Given the description of an element on the screen output the (x, y) to click on. 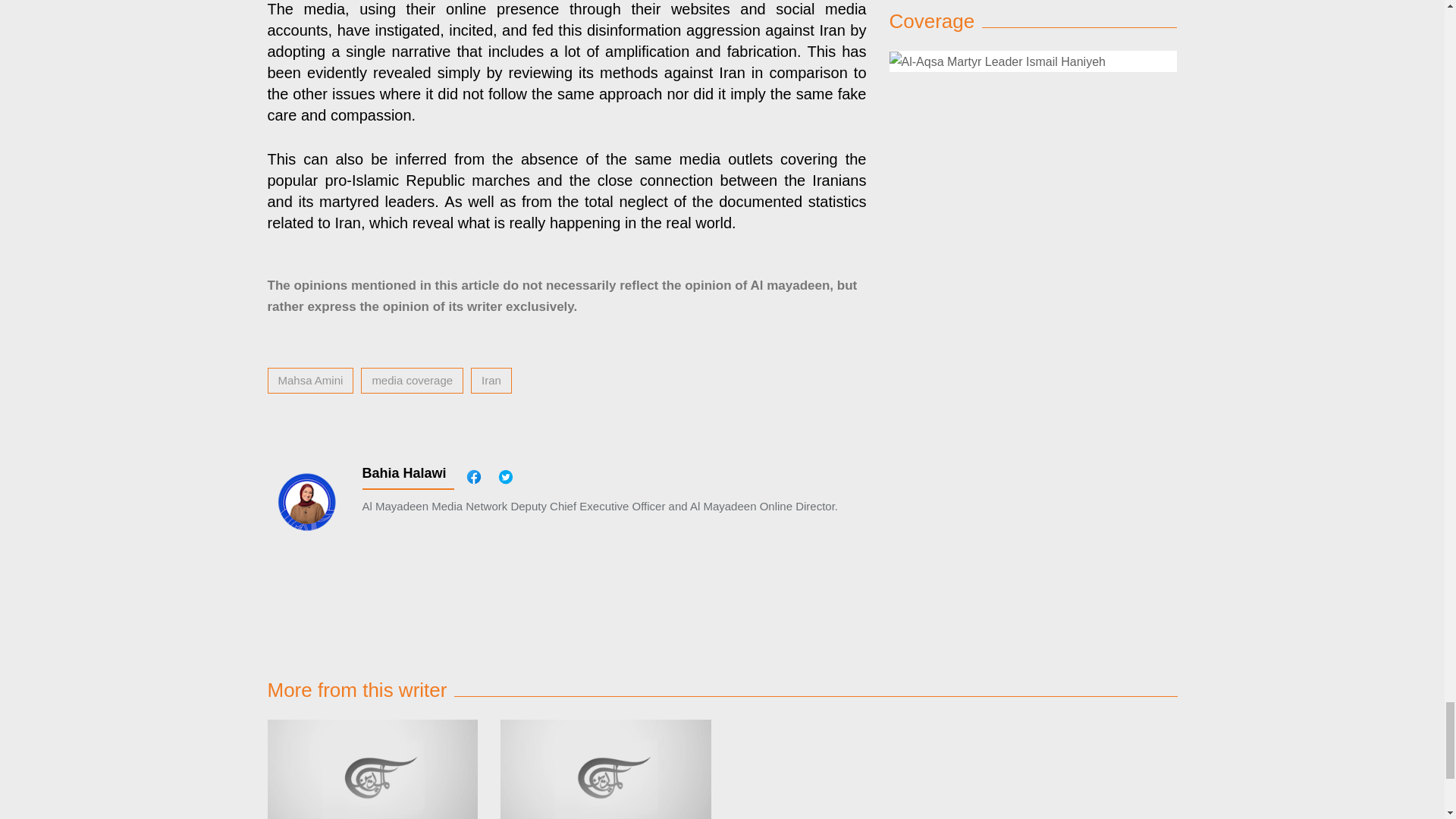
Operation Al-Aqsa Flood: A favor for generations to come (371, 769)
